Given the description of an element on the screen output the (x, y) to click on. 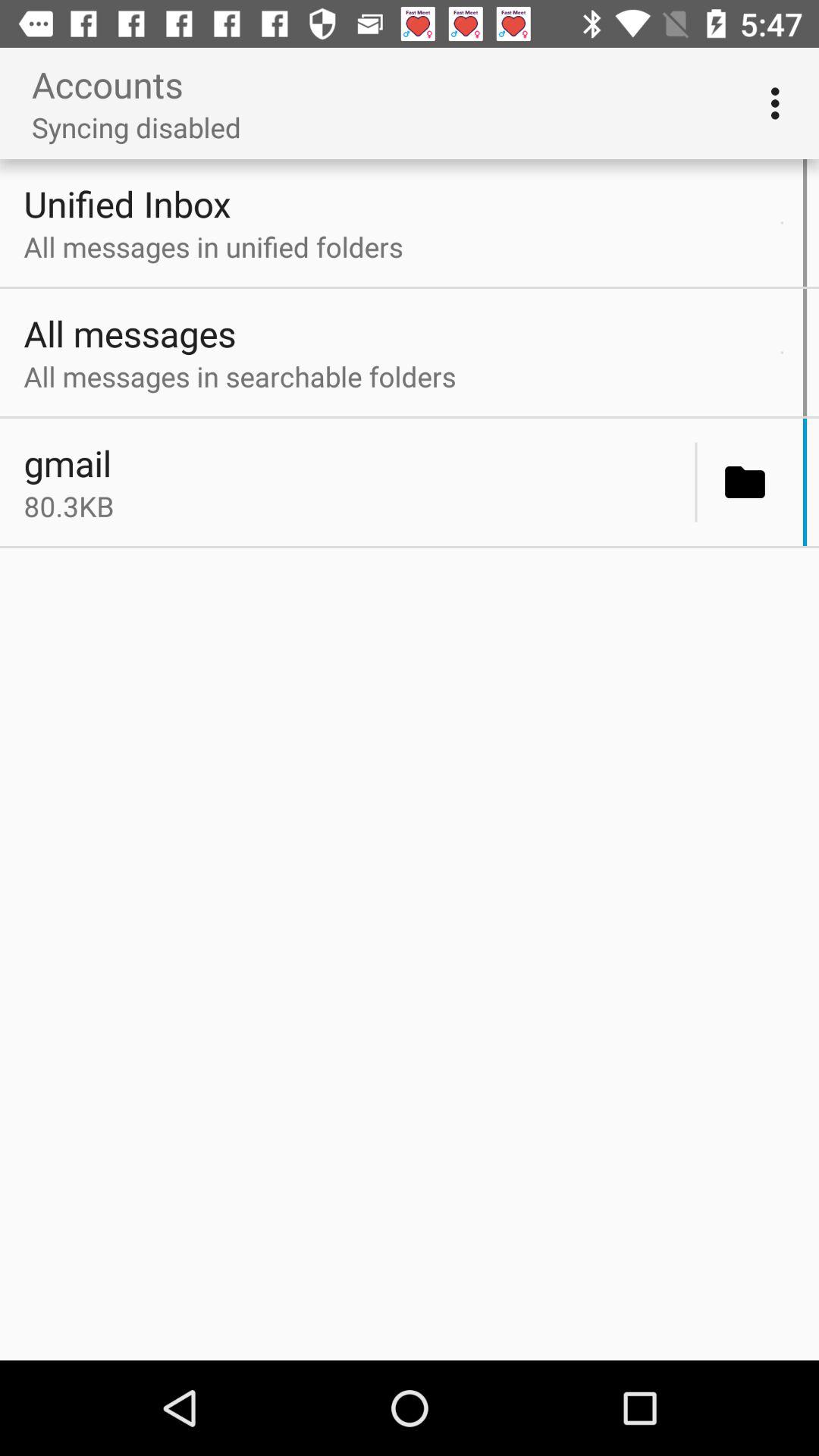
swipe until 80.3kb item (355, 505)
